Given the description of an element on the screen output the (x, y) to click on. 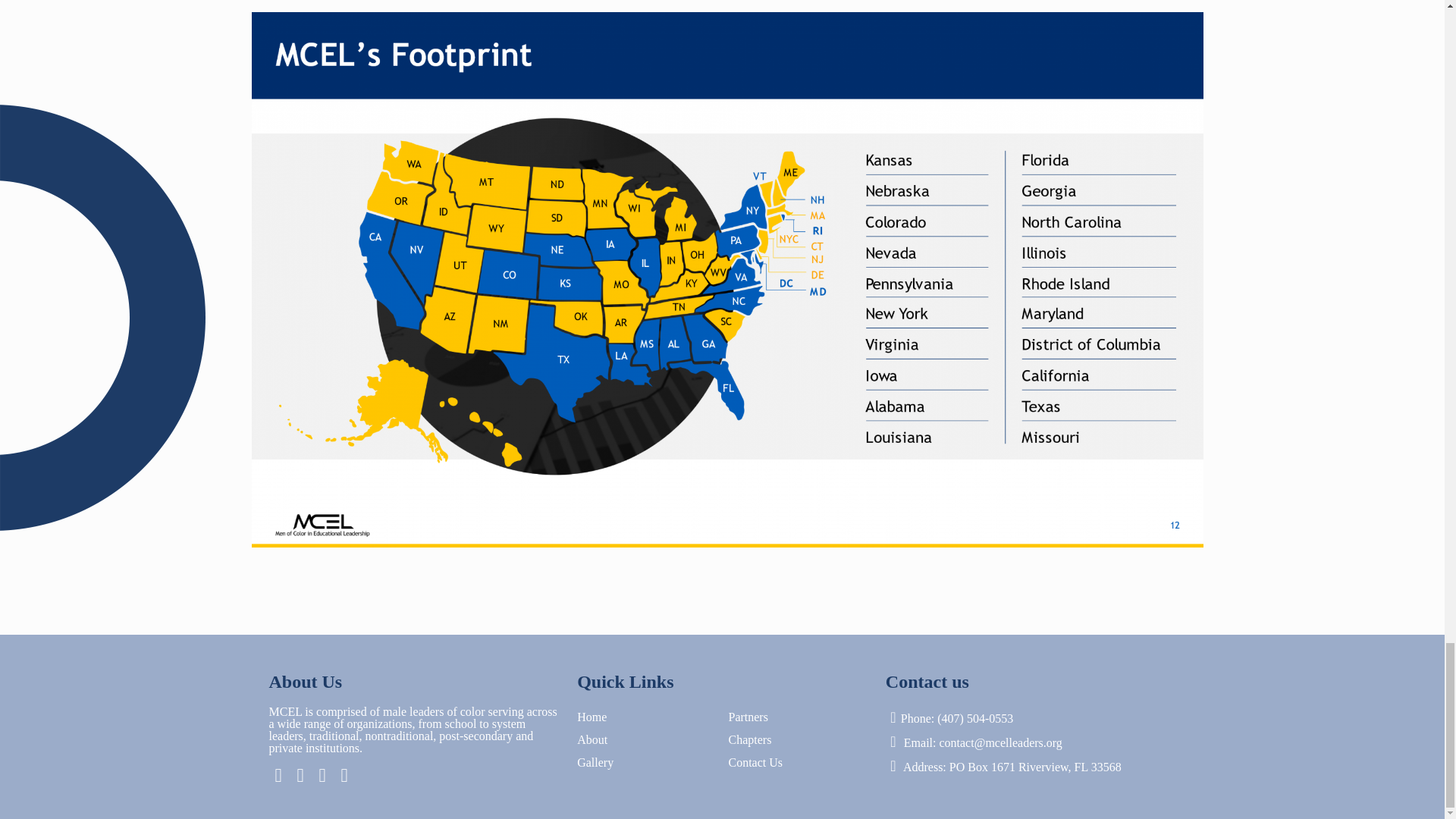
Chapters (749, 739)
Contact Us (755, 762)
Gallery (594, 762)
Home (591, 716)
About (591, 739)
Partners (747, 716)
